Given the description of an element on the screen output the (x, y) to click on. 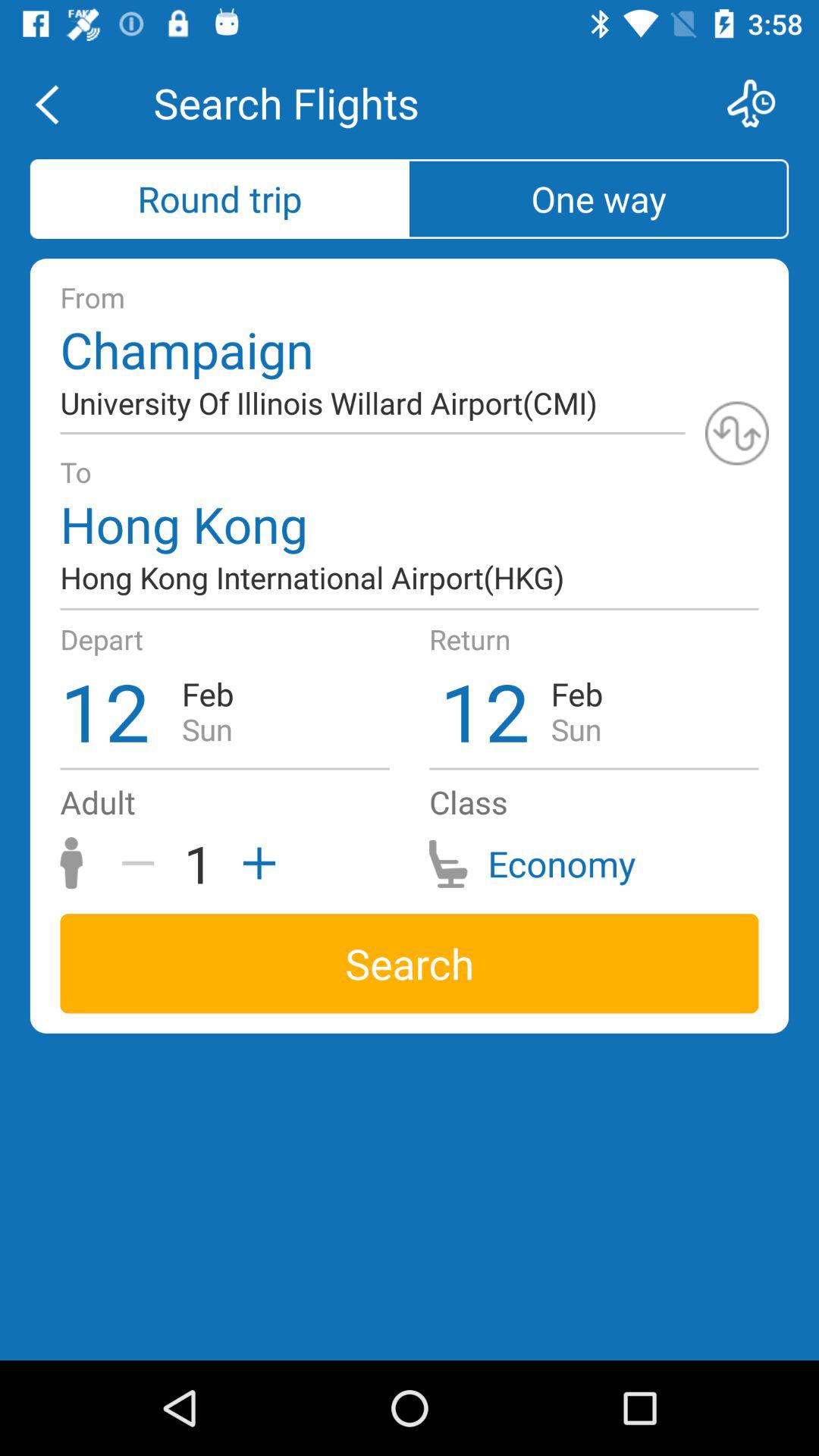
add adult traveler (254, 863)
